Given the description of an element on the screen output the (x, y) to click on. 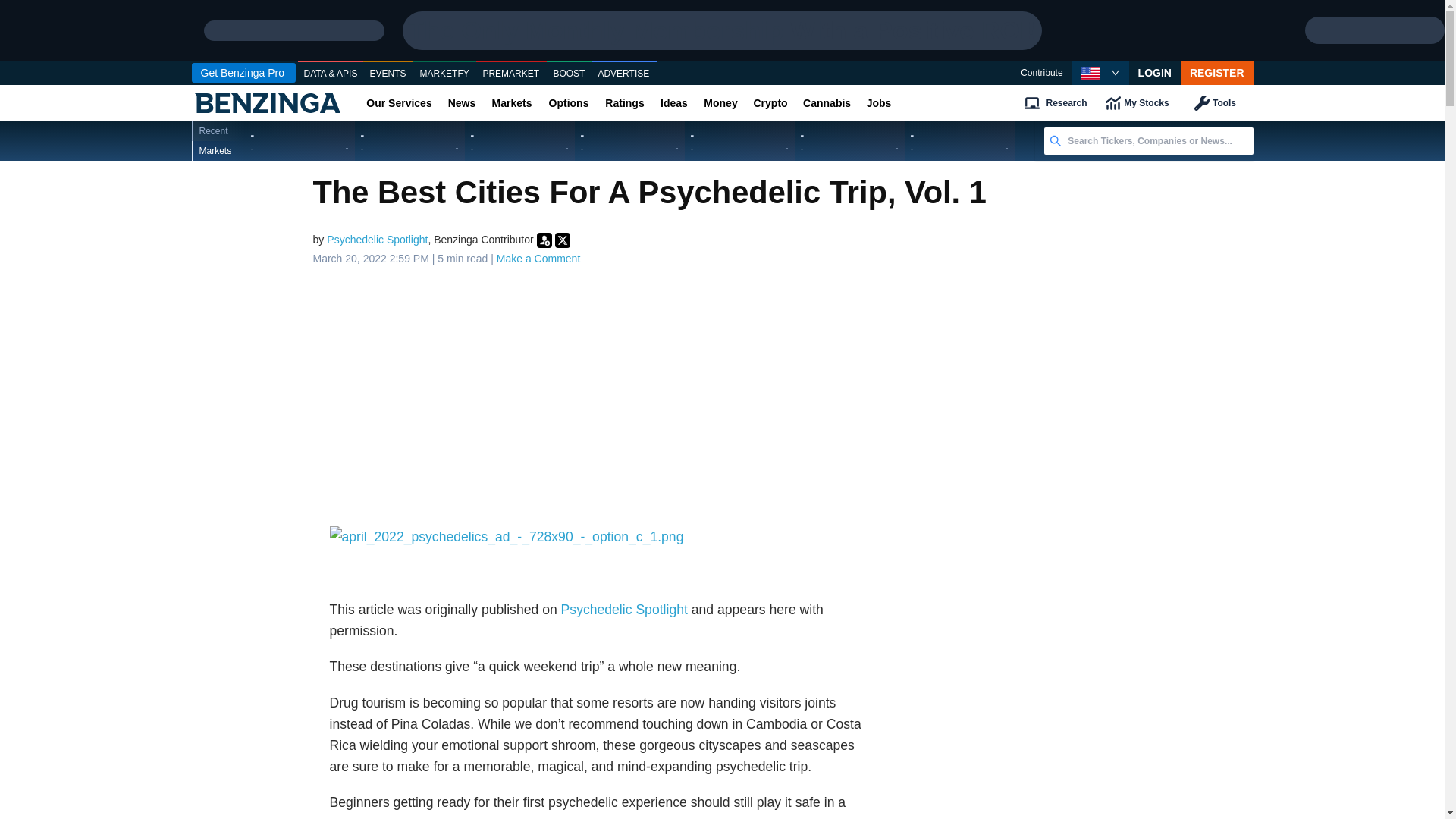
MARKETFY (444, 73)
REGISTER (1216, 72)
BOOST (569, 73)
EVENTS (387, 73)
Get Benzinga Pro (242, 72)
News (461, 103)
PREMARKET (511, 73)
Our Services (398, 103)
News (461, 103)
LOGIN (1154, 72)
